Given the description of an element on the screen output the (x, y) to click on. 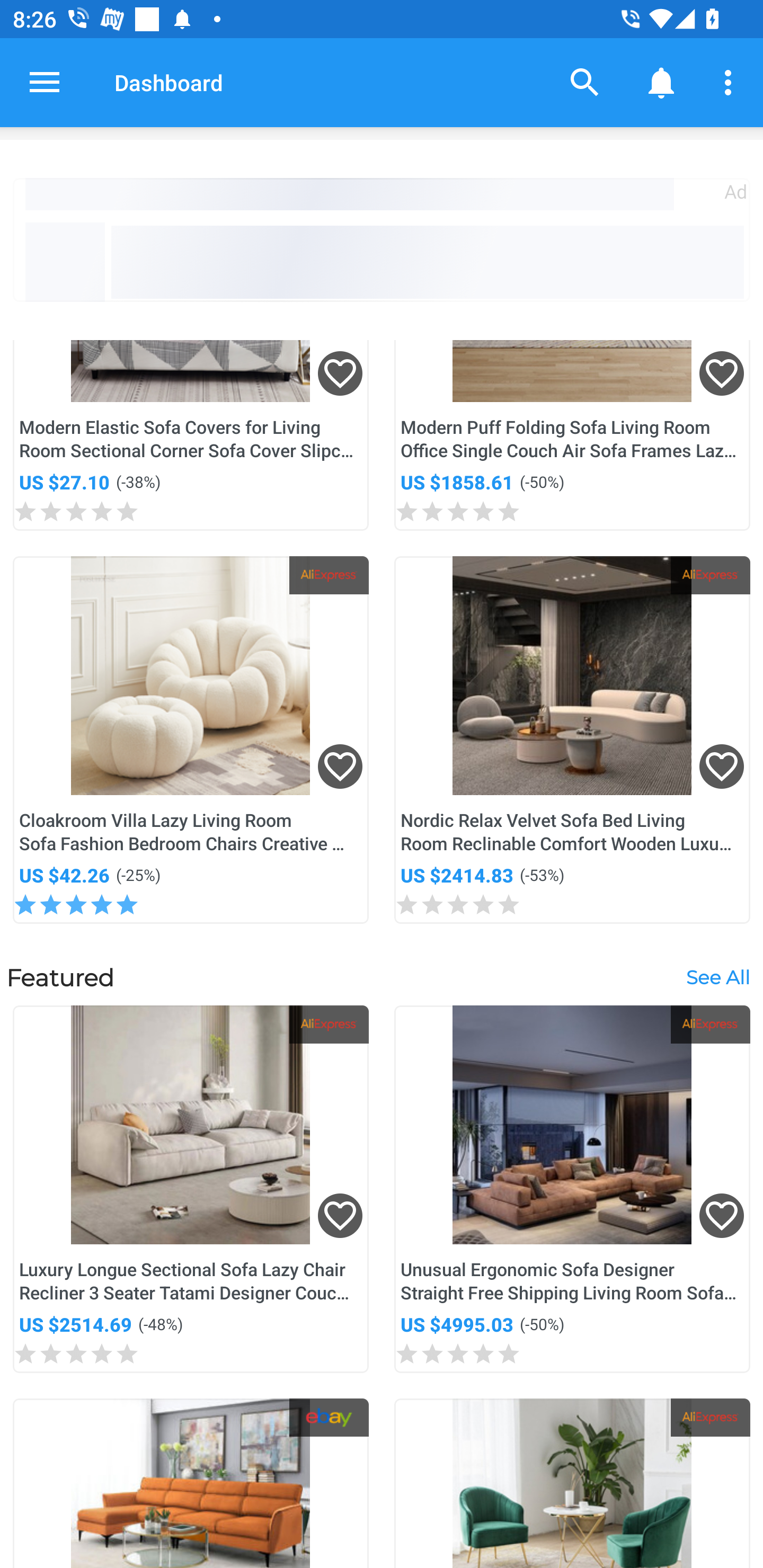
Open navigation drawer (44, 82)
Search (585, 81)
More options (731, 81)
See All (717, 976)
